Given the description of an element on the screen output the (x, y) to click on. 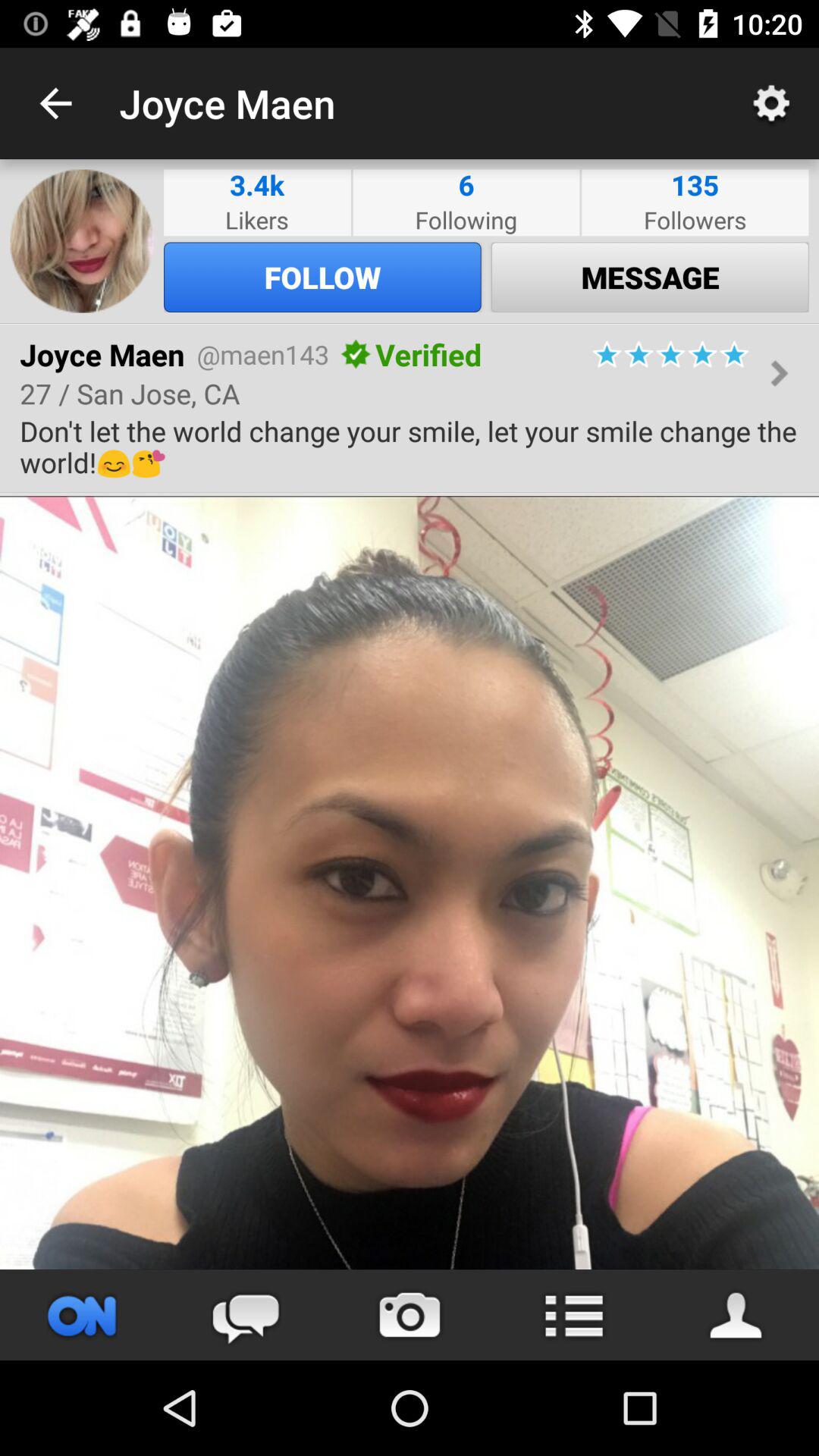
turn off 27 san jose item (129, 393)
